Given the description of an element on the screen output the (x, y) to click on. 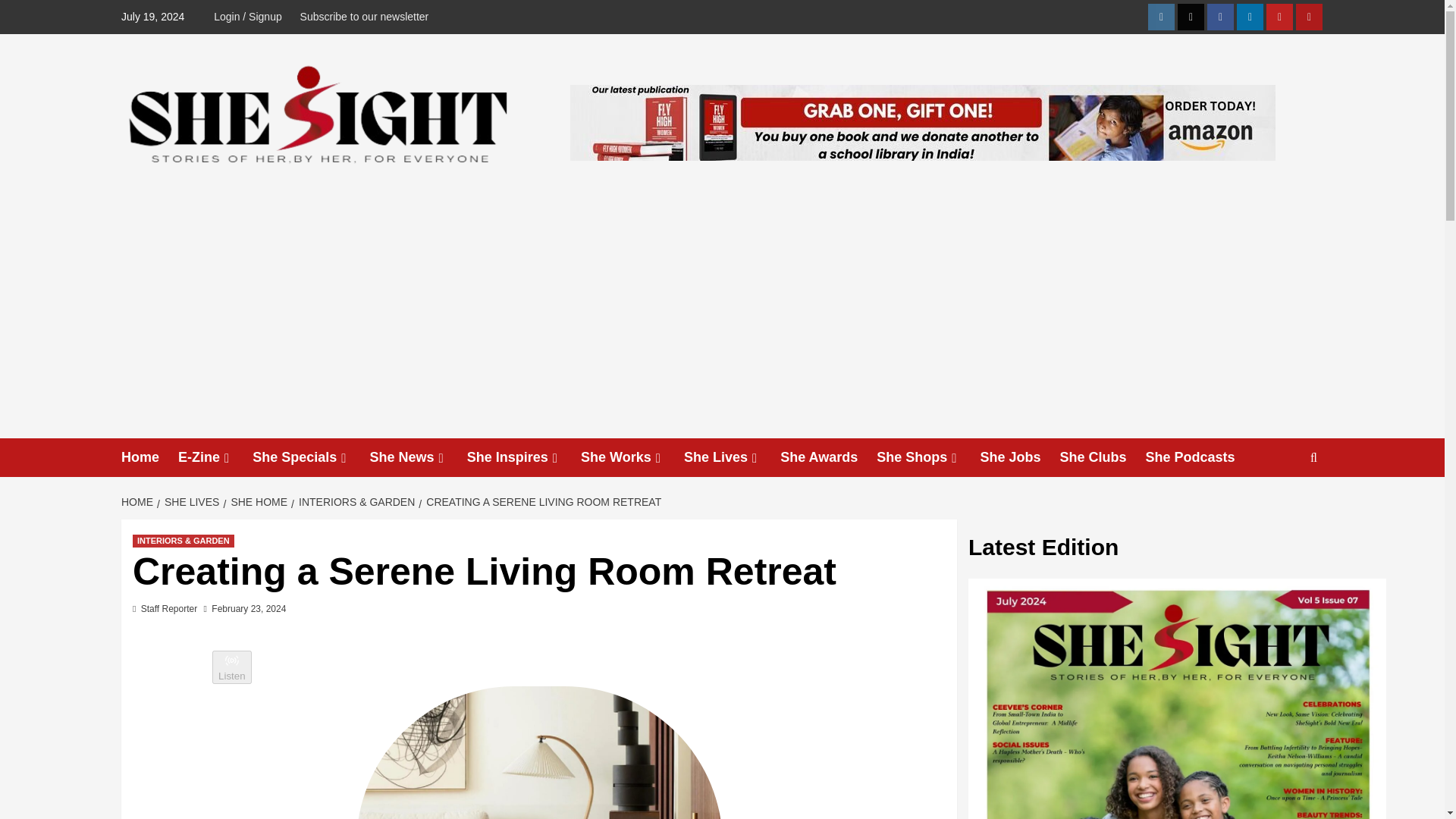
Subscribe to our newsletter (364, 17)
E-Zine (214, 457)
Facebook (1220, 17)
Instagram (1161, 17)
YouTube (1279, 17)
amazon (1308, 17)
Latest Edition (1177, 698)
LinkedIn (1249, 17)
Twitter (1190, 17)
She News (418, 457)
She Specials (310, 457)
Home (148, 457)
